Given the description of an element on the screen output the (x, y) to click on. 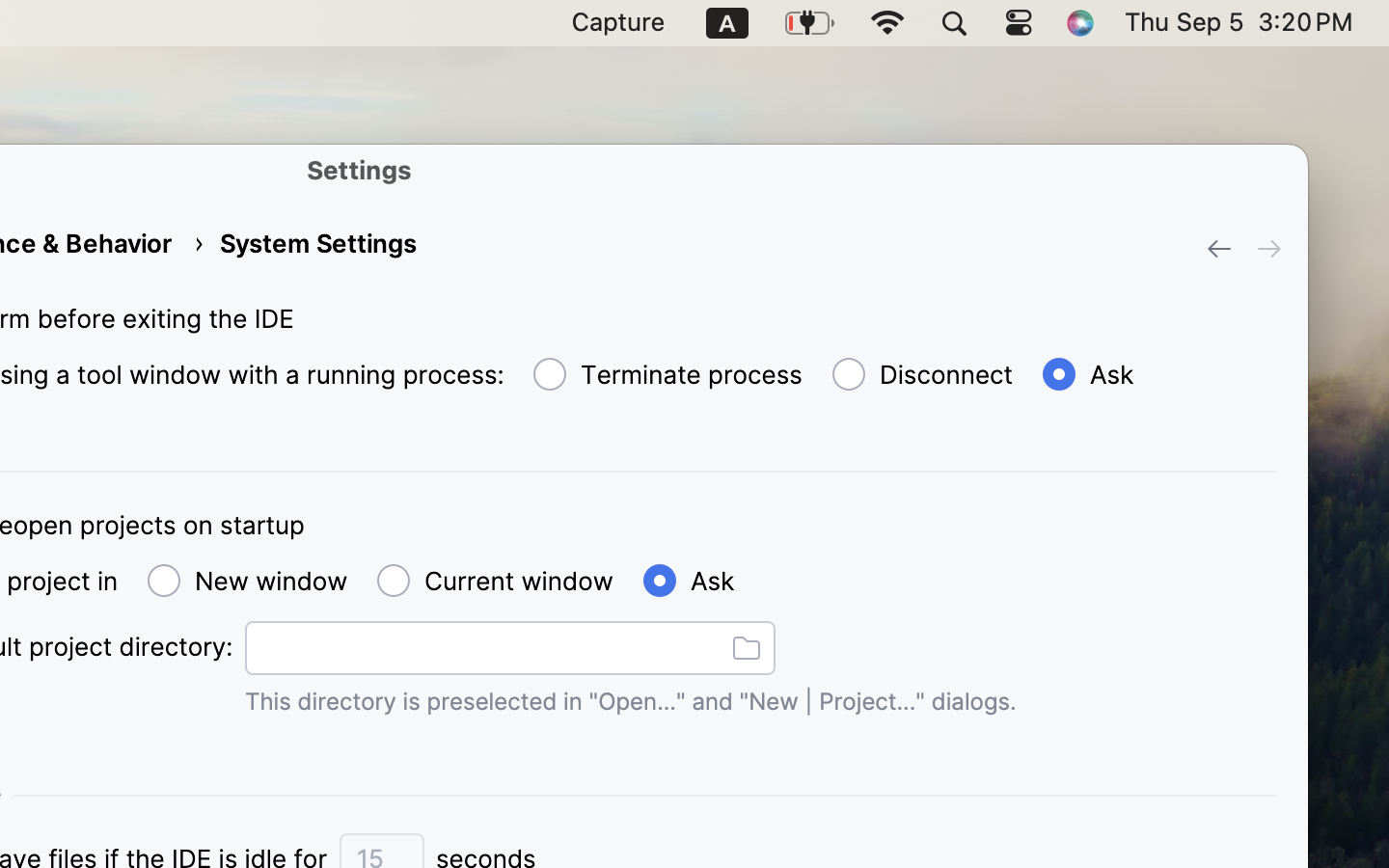
0 Element type: AXRadioButton (664, 375)
1 Element type: AXRadioButton (1084, 375)
Settings Element type: AXStaticText (359, 169)
